Given the description of an element on the screen output the (x, y) to click on. 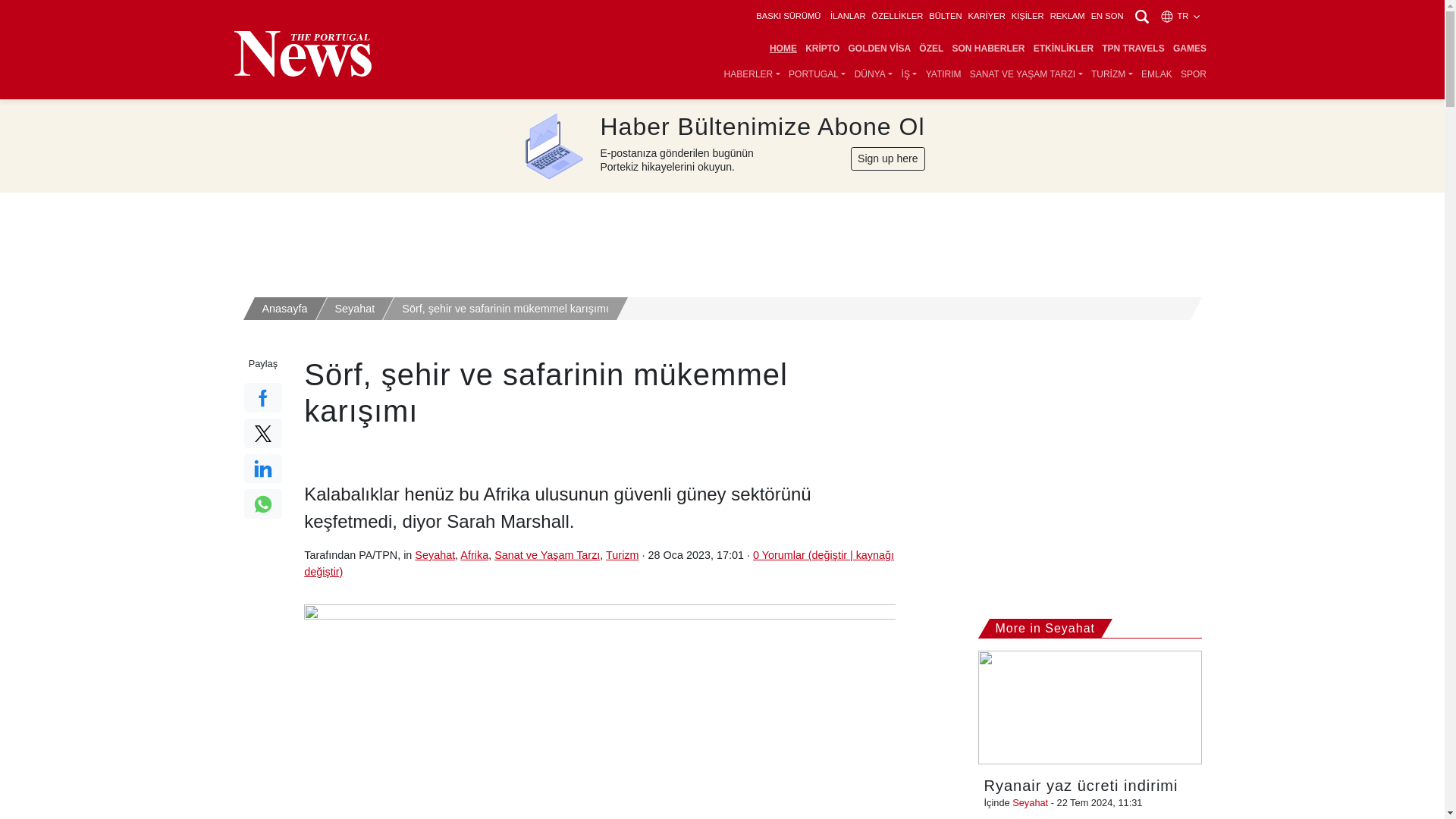
HOME (782, 48)
REKLAM (1066, 15)
GOLDEN VISA (879, 48)
EN SON (1107, 15)
HABERLER (751, 73)
PORTUGAL (817, 73)
GAMES (1189, 48)
ETKINLIKLER (1063, 48)
SON HABERLER (988, 48)
TPN TRAVELS (1133, 48)
